Given the description of an element on the screen output the (x, y) to click on. 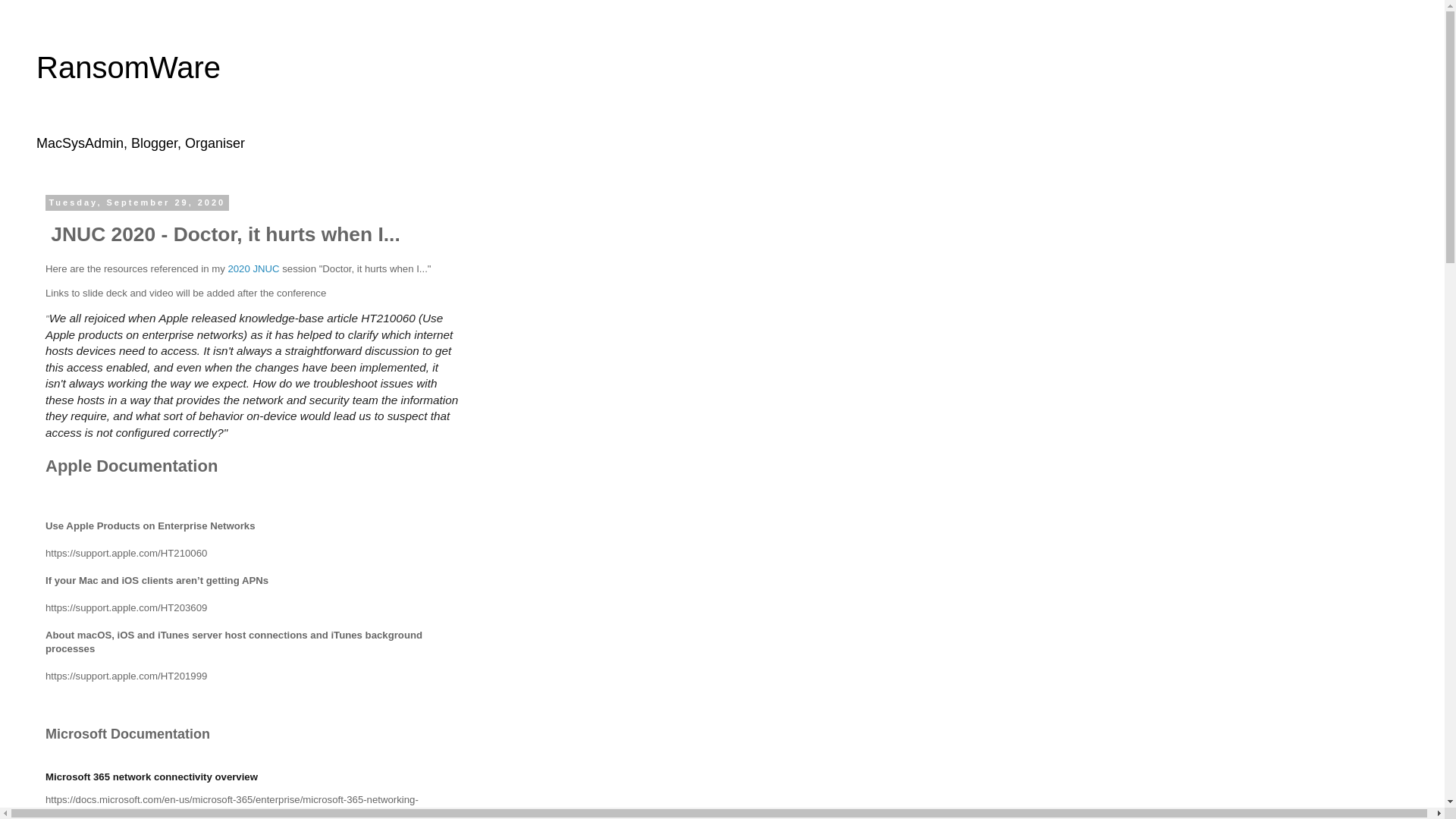
2020 JNUC Element type: text (253, 268)
RansomWare Element type: text (128, 67)
